Given the description of an element on the screen output the (x, y) to click on. 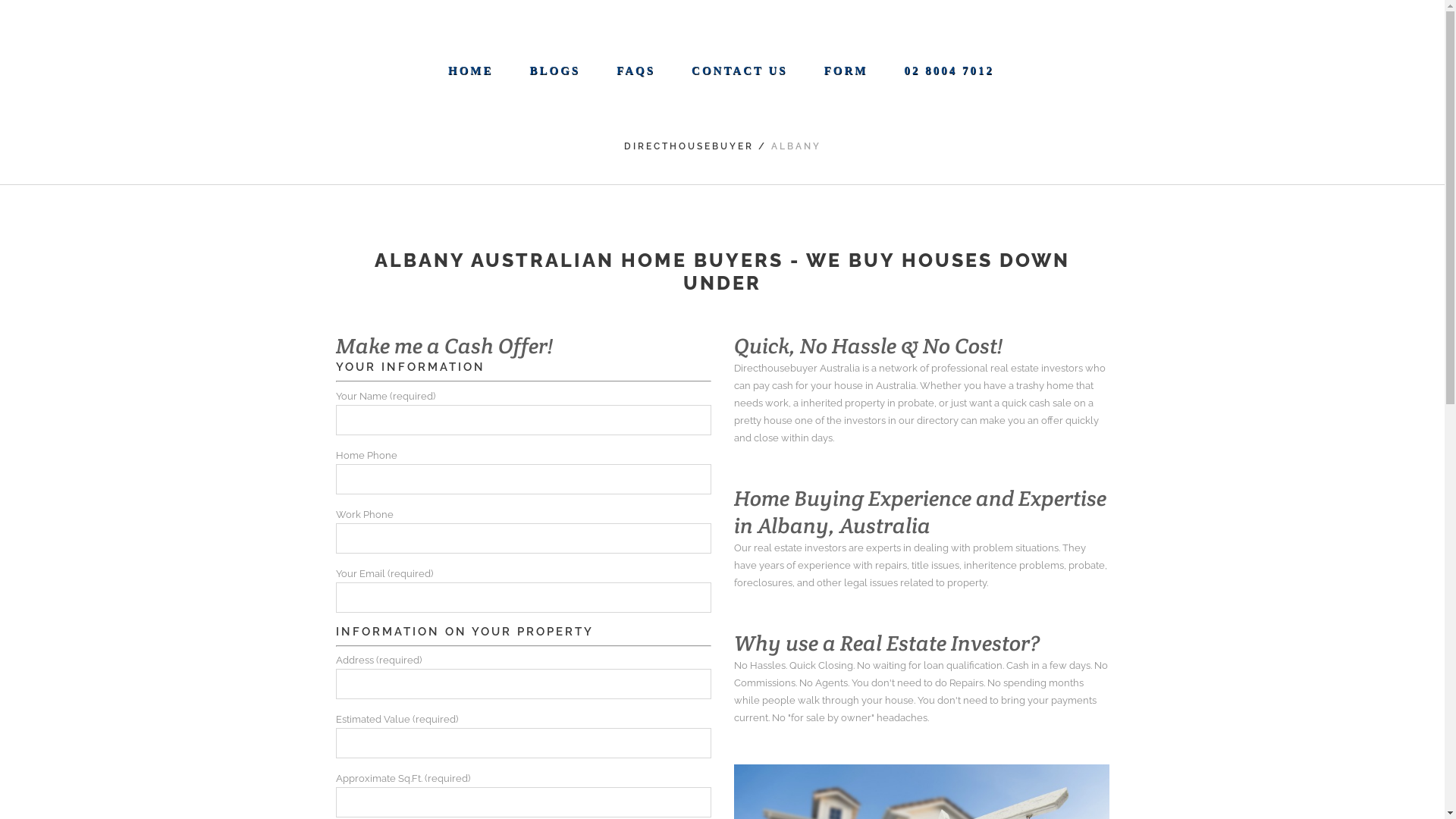
close Element type: text (722, 599)
BLOGS Element type: text (554, 70)
CONTACT US Element type: text (739, 70)
DIRECTHOUSEBUYER Element type: text (688, 146)
FAQS Element type: text (635, 70)
FORM Element type: text (846, 70)
02 8004 7012 Element type: text (948, 70)
HOME Element type: text (470, 70)
